Given the description of an element on the screen output the (x, y) to click on. 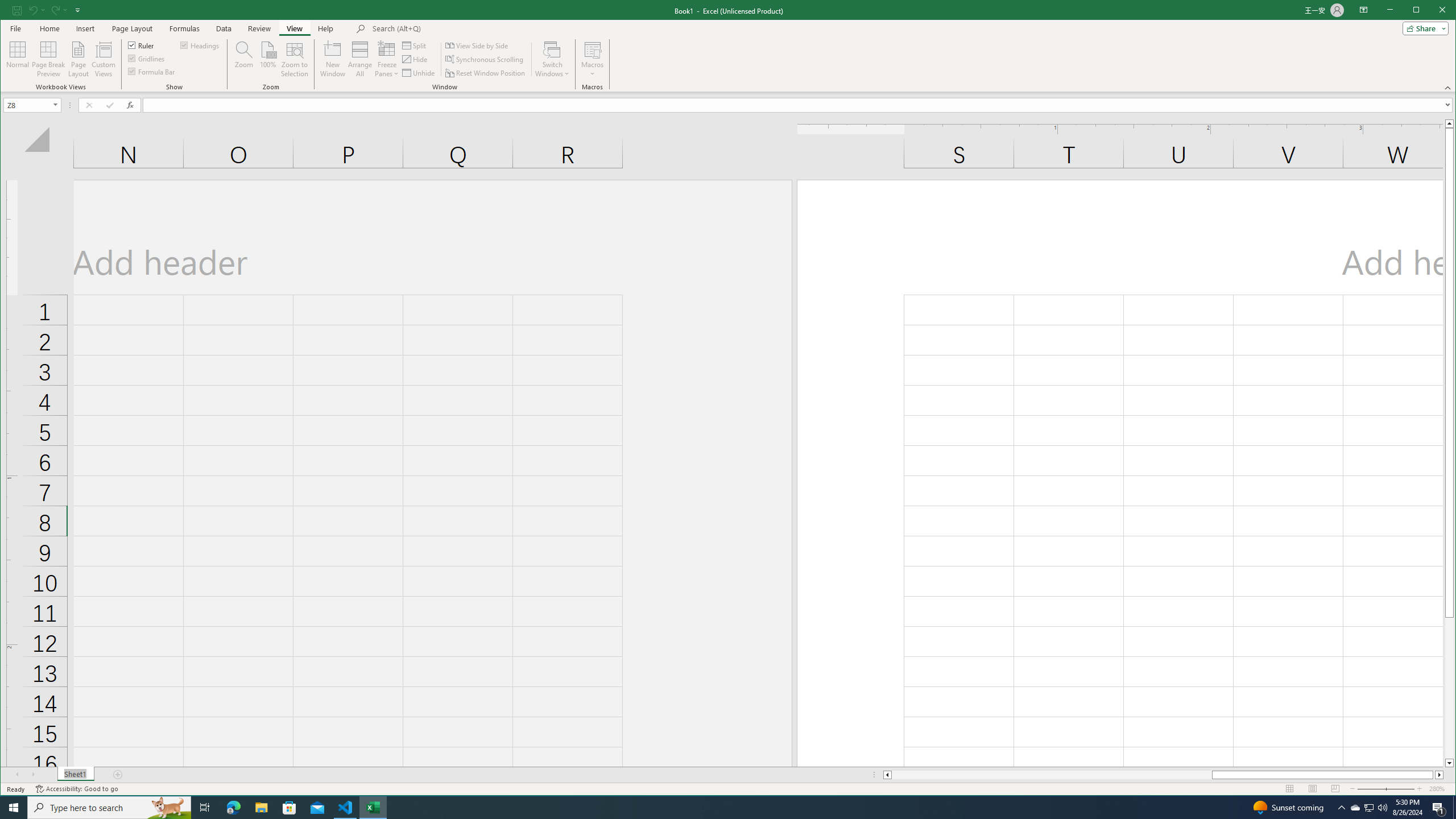
Minimize (1419, 11)
Sheet Tab (75, 774)
Class: MsoCommandBar (728, 45)
Page left (1051, 774)
Running applications (717, 807)
New Window (332, 59)
Search highlights icon opens search home window (167, 807)
Maximize (1432, 11)
Split (414, 45)
Page down (1449, 687)
Custom Views... (103, 59)
Zoom (1384, 788)
Start (13, 807)
Synchronous Scrolling (485, 59)
